Given the description of an element on the screen output the (x, y) to click on. 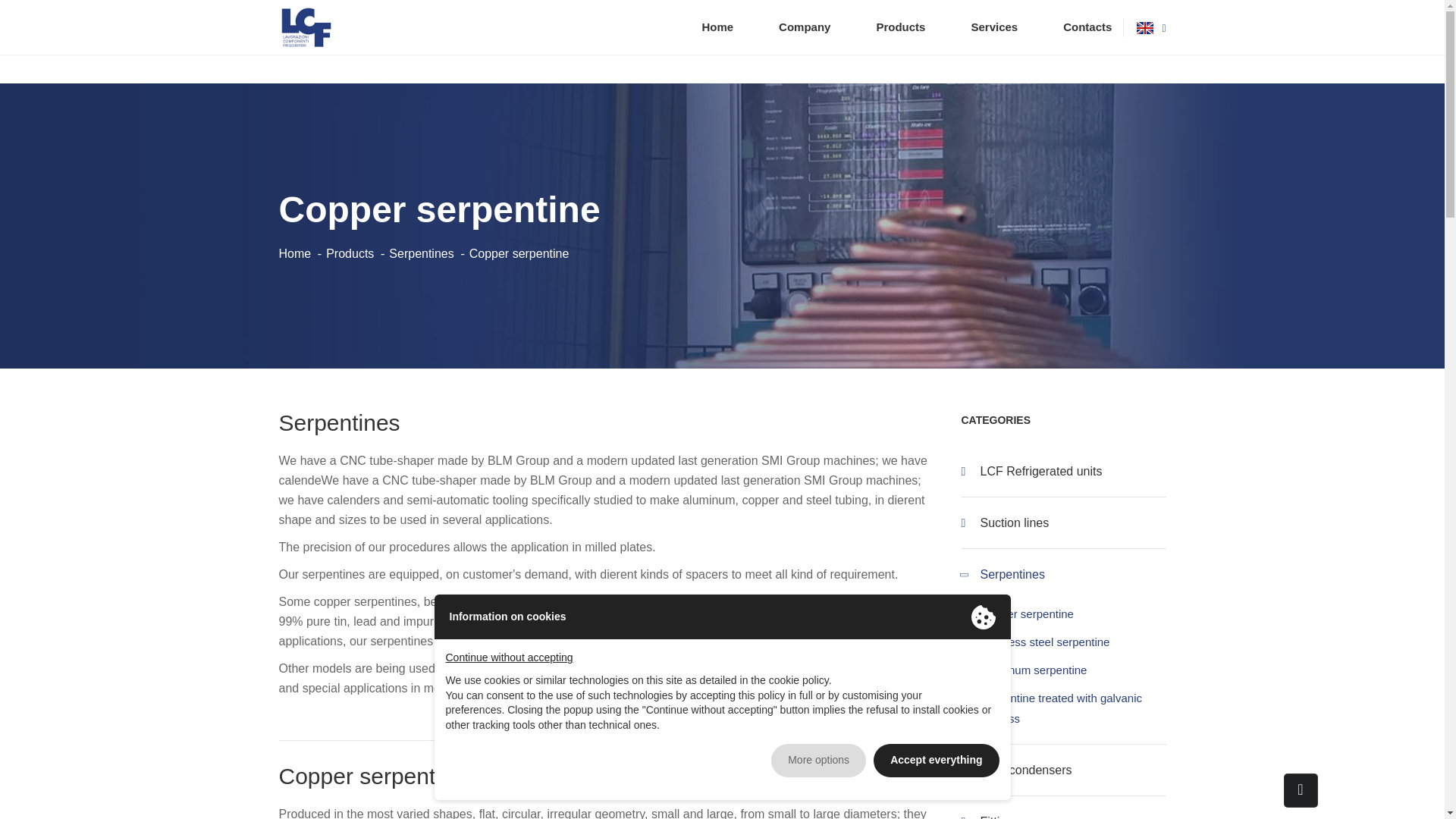
Serpentines (420, 253)
Products (900, 27)
Serpentines (420, 253)
Aluminum serpentine (1032, 669)
LCF Refrigerated units (1063, 470)
Serpentine treated with galvanic process (1060, 707)
Production of components for refrigeration (803, 27)
Suction lines (1063, 522)
Stainless steel serpentine (1044, 641)
Company (803, 27)
Copper serpentine (1026, 613)
Serpentines (1063, 573)
Stainless steel serpentine (1044, 641)
Home (295, 253)
